Given the description of an element on the screen output the (x, y) to click on. 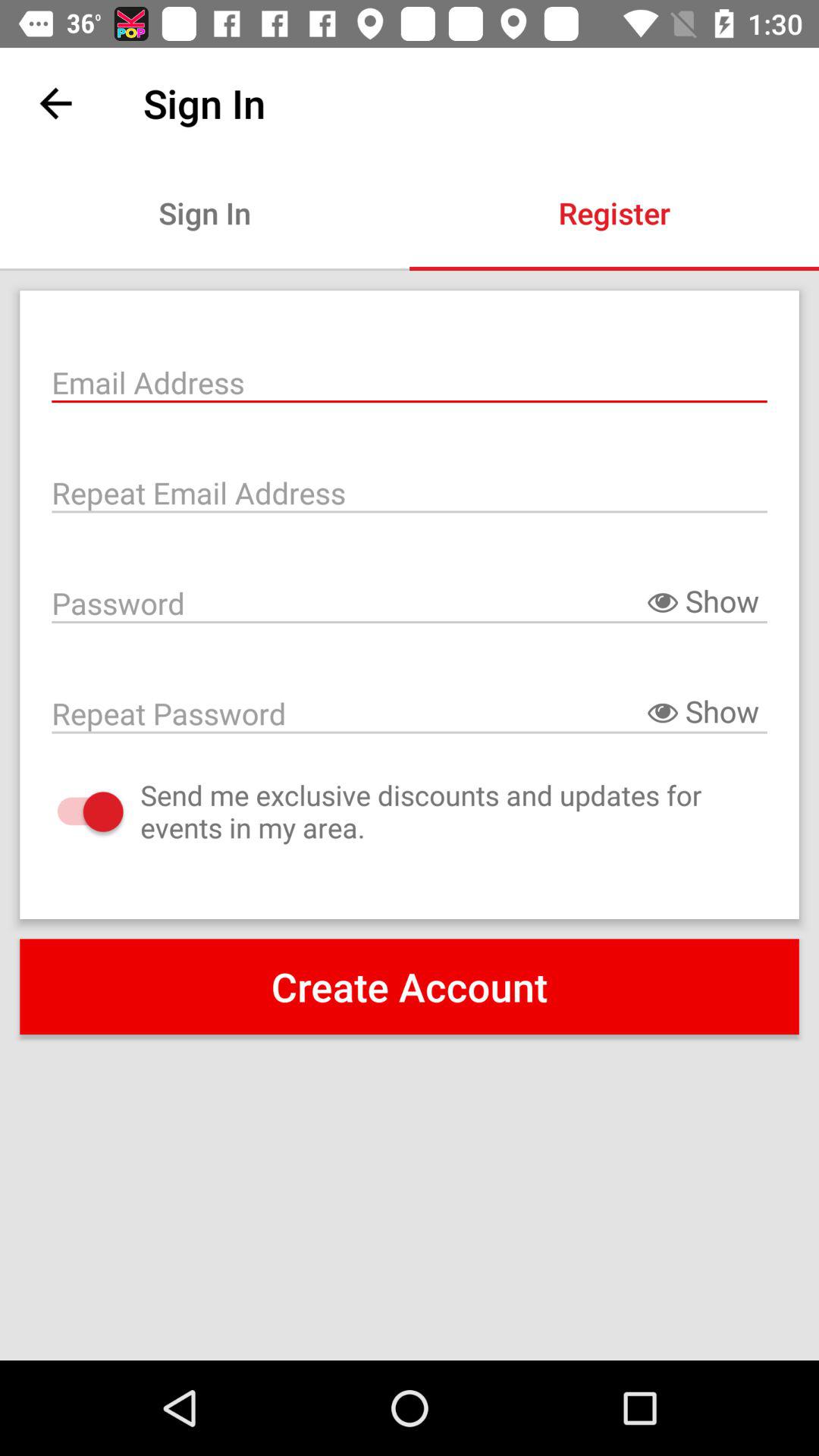
turn off item next to the sign in icon (614, 212)
